Given the description of an element on the screen output the (x, y) to click on. 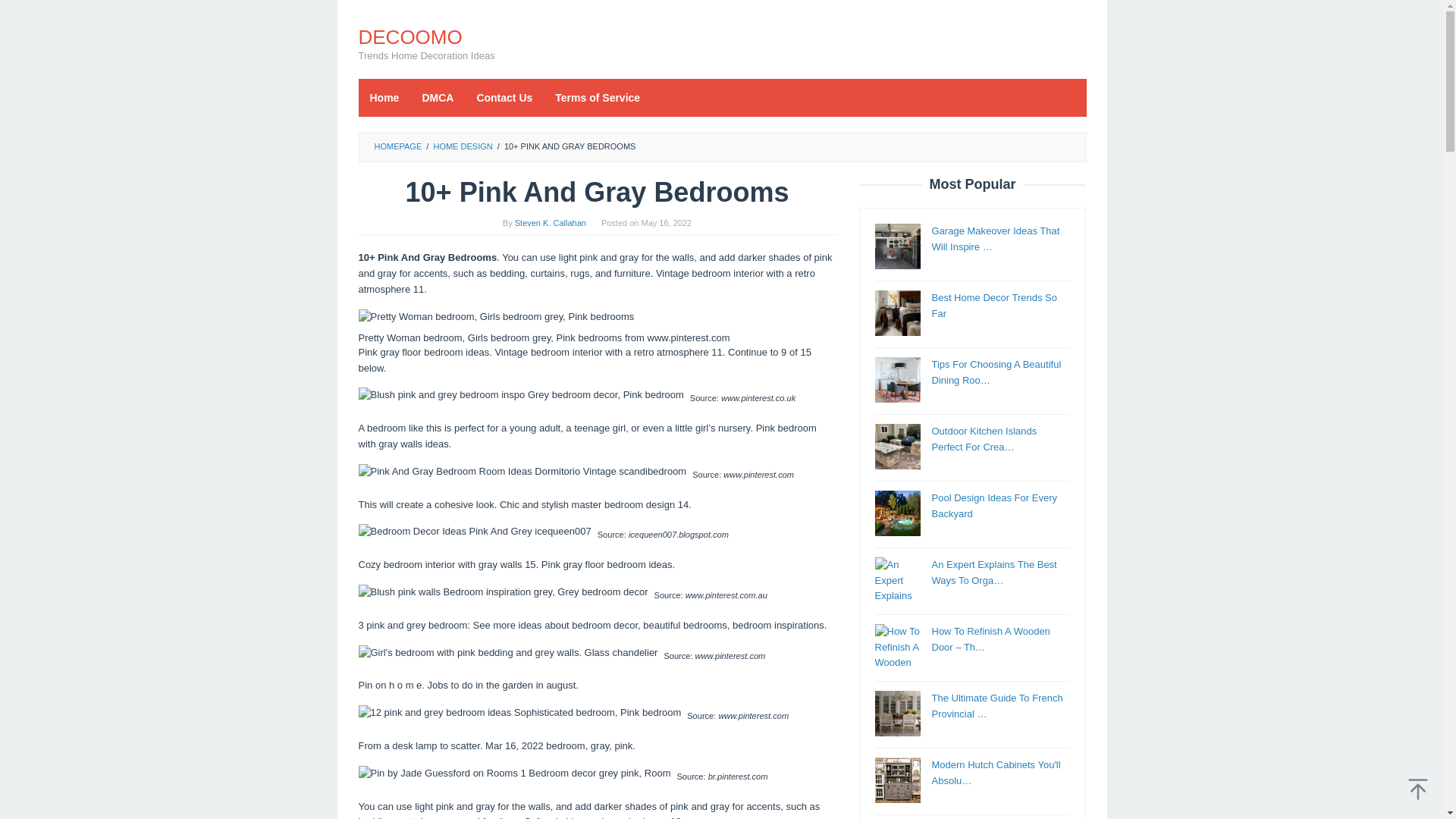
HOME DESIGN (462, 145)
DECOOMO (409, 36)
DECOOMO (409, 36)
Contact Us (503, 97)
Best Home Decor Trends So Far (897, 312)
Pool Design Ideas For Every Backyard (994, 505)
Home (384, 97)
Garage Makeover Ideas That Will Inspire You To Get Organized (897, 246)
Best Home Decor Trends So Far (994, 305)
DMCA (437, 97)
Steven K. Callahan (550, 222)
Permalink to: Best Home Decor Trends So Far (994, 305)
HOMEPAGE (398, 145)
Permalink to: Steven K. Callahan (550, 222)
